Given the description of an element on the screen output the (x, y) to click on. 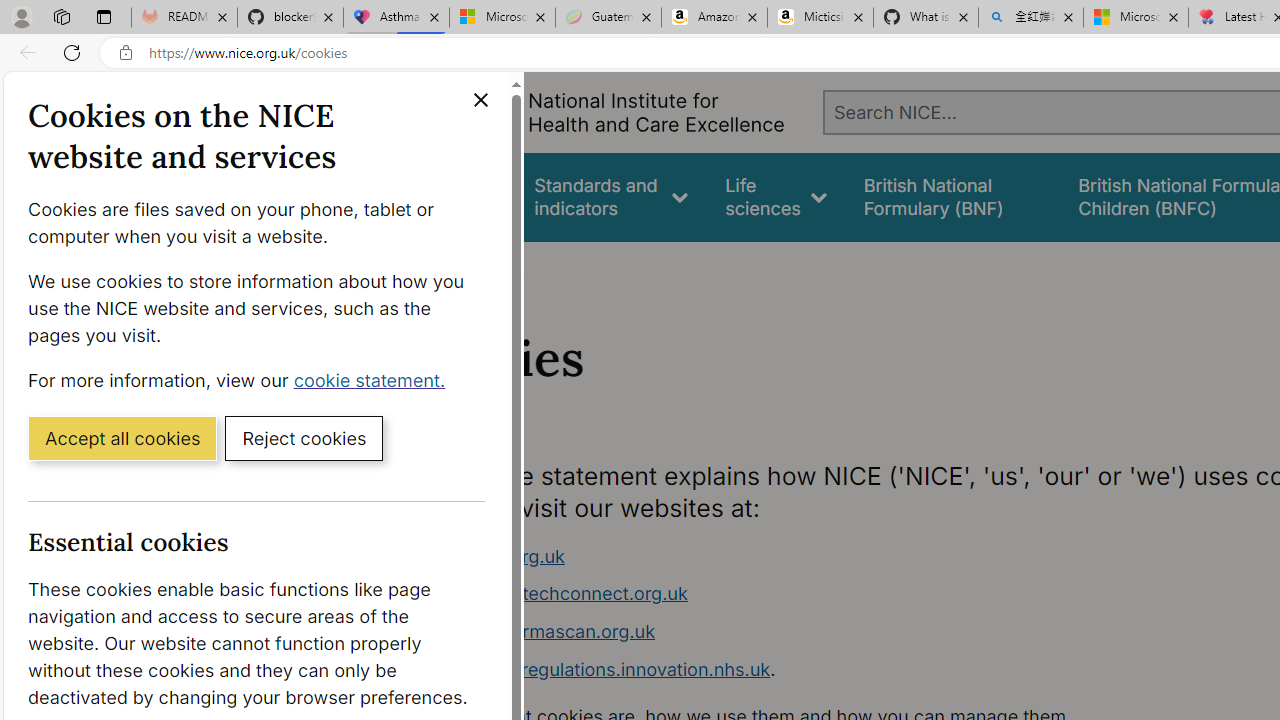
Life sciences (776, 196)
www.healthtechconnect.org.uk (796, 594)
About (498, 268)
cookie statement. (Opens in a new window) (373, 379)
Reject cookies (304, 437)
false (952, 196)
